Given the description of an element on the screen output the (x, y) to click on. 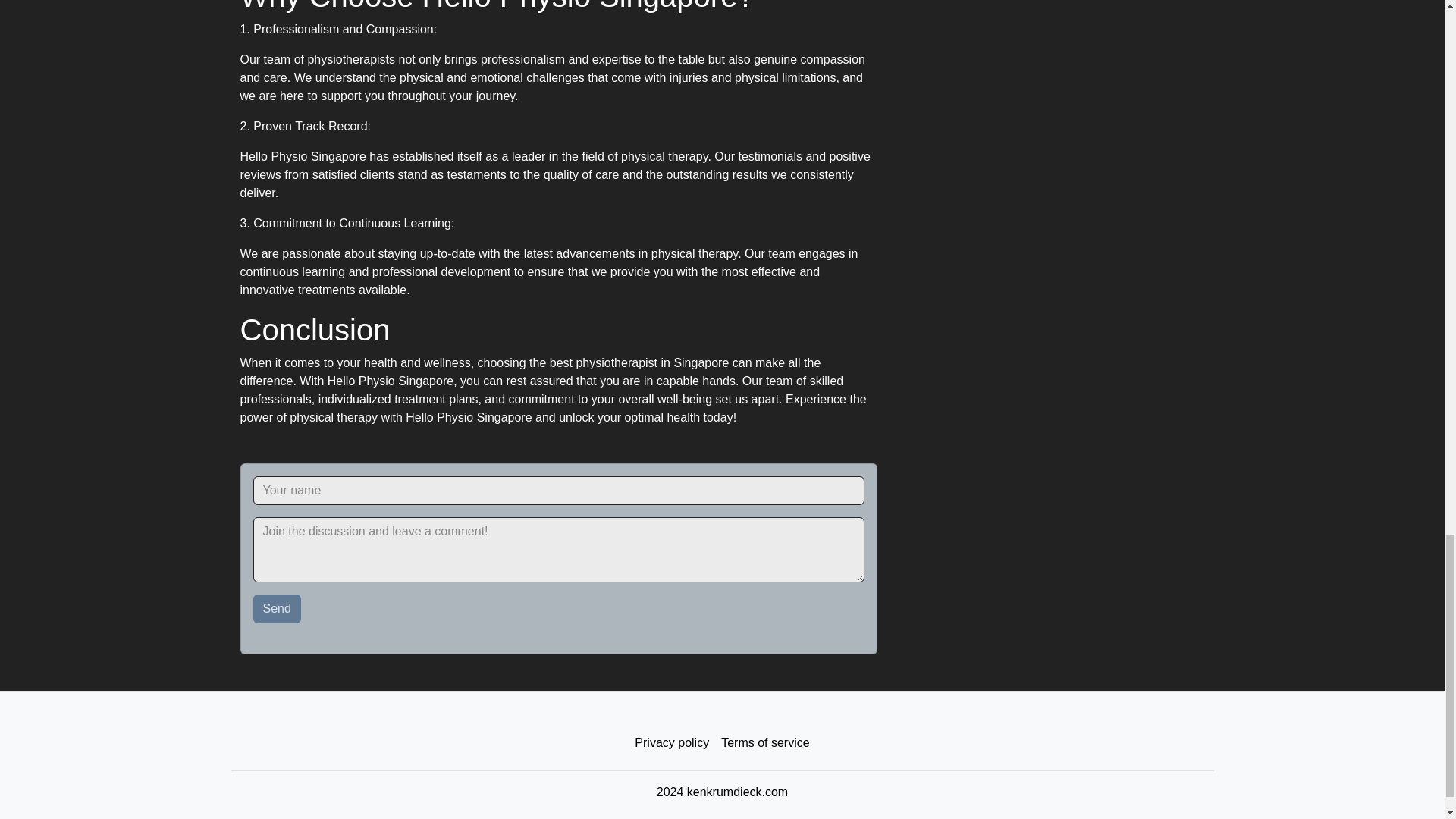
Send (277, 608)
Send (277, 608)
Terms of service (764, 743)
Privacy policy (671, 743)
